Given the description of an element on the screen output the (x, y) to click on. 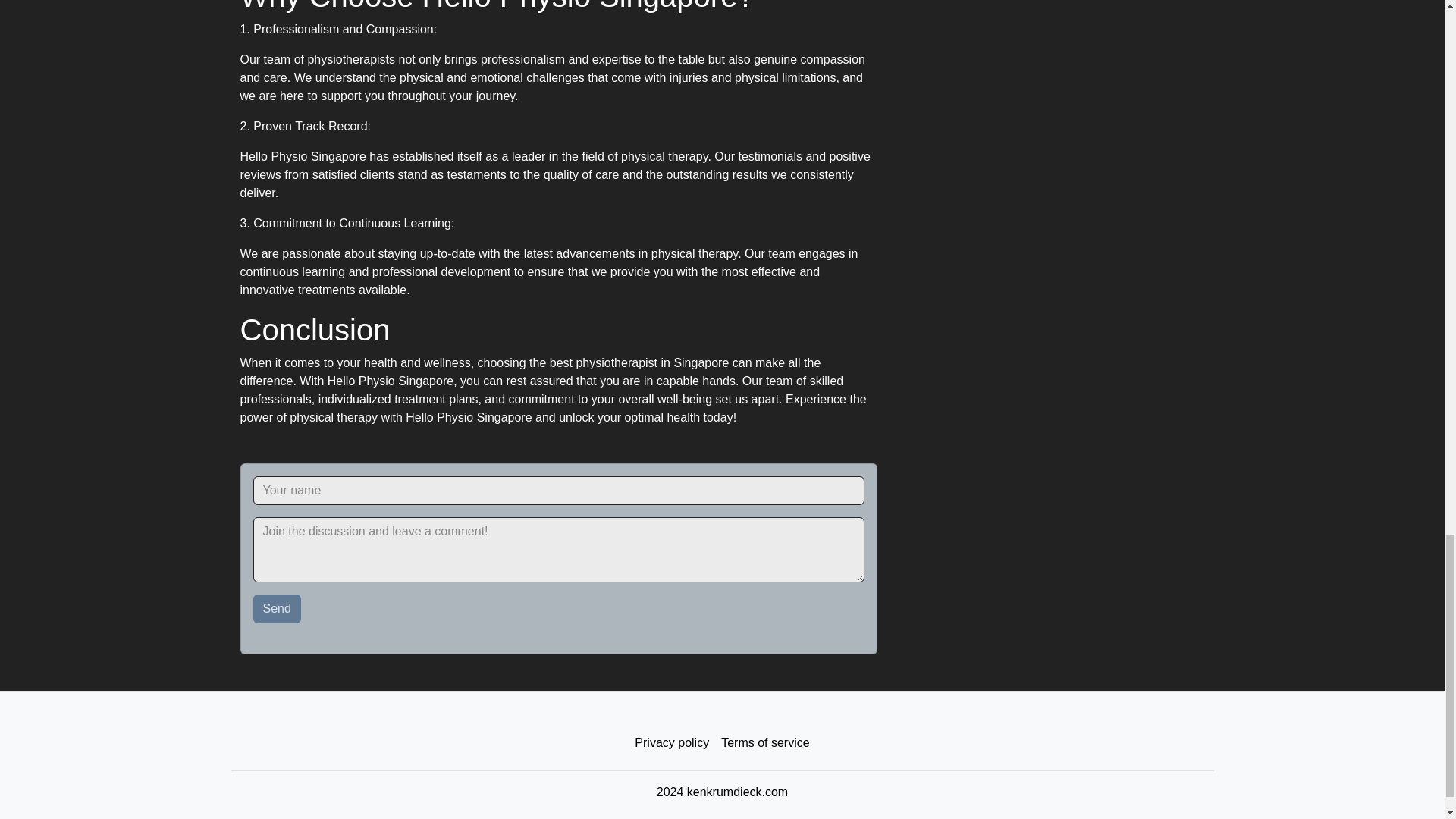
Send (277, 608)
Send (277, 608)
Terms of service (764, 743)
Privacy policy (671, 743)
